Given the description of an element on the screen output the (x, y) to click on. 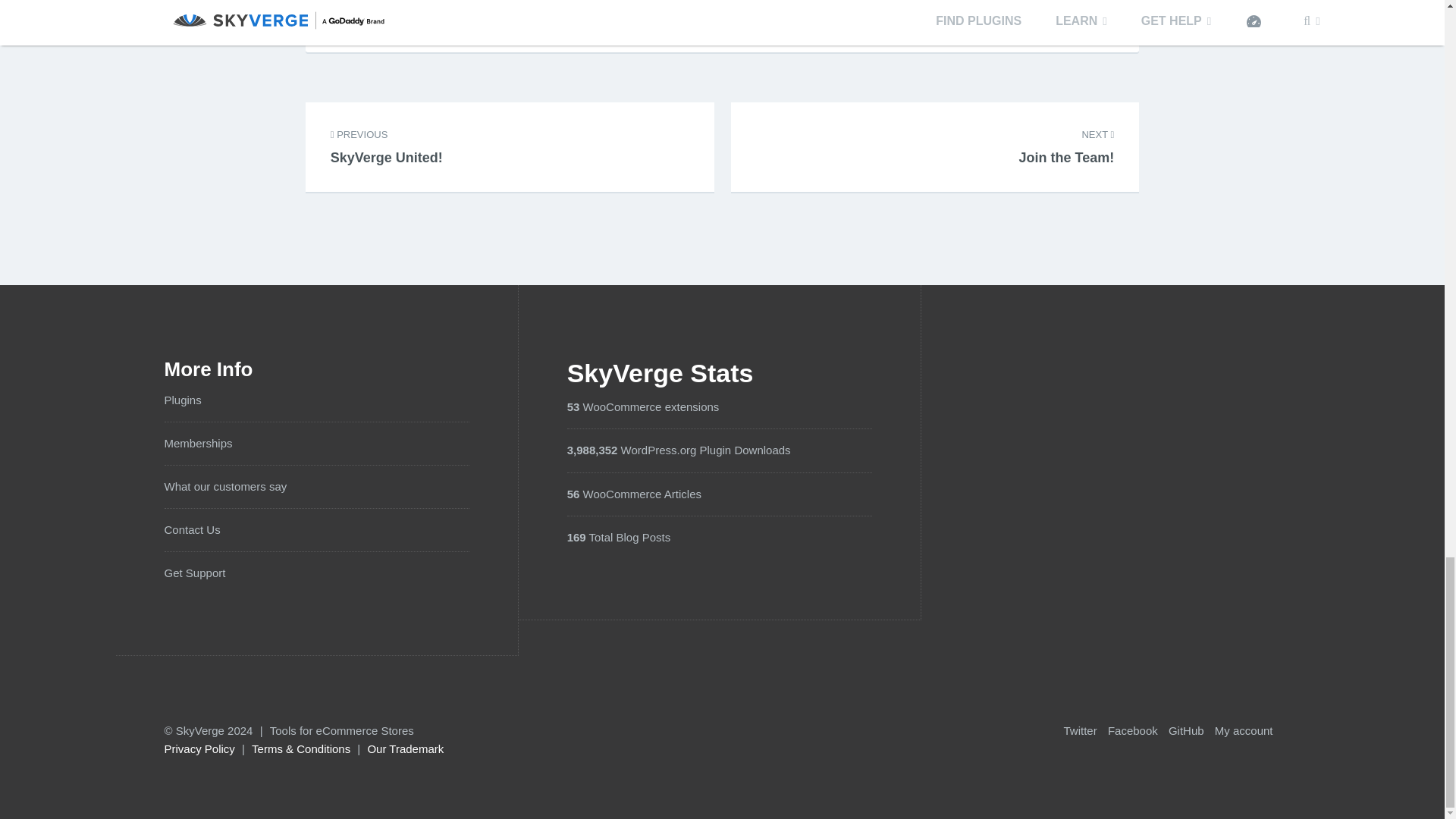
Beka Rice (576, 6)
Get Support (194, 572)
169 (576, 536)
56 (573, 493)
Privacy Policy (386, 137)
53 (198, 748)
Plugins (573, 406)
Our Trademark (181, 399)
